Given the description of an element on the screen output the (x, y) to click on. 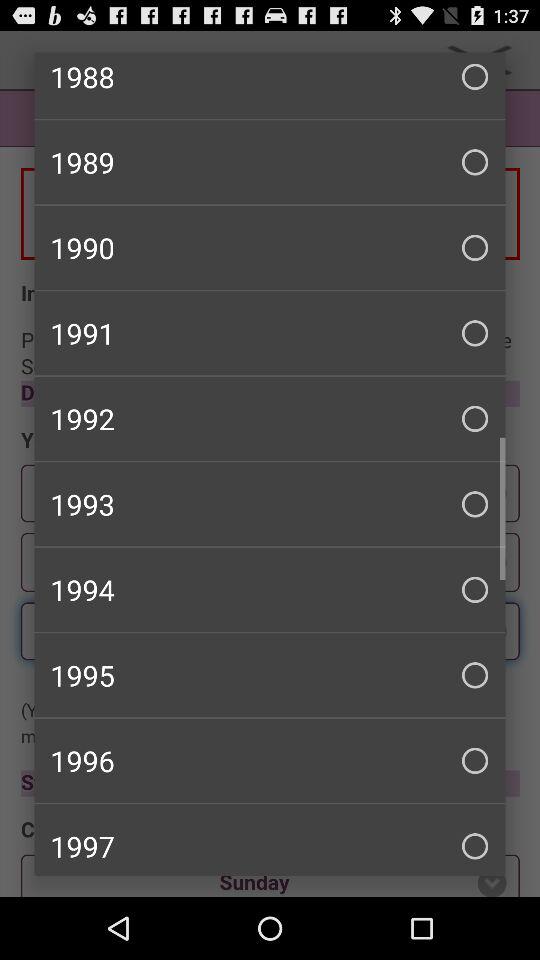
flip until the 1993 icon (269, 504)
